Given the description of an element on the screen output the (x, y) to click on. 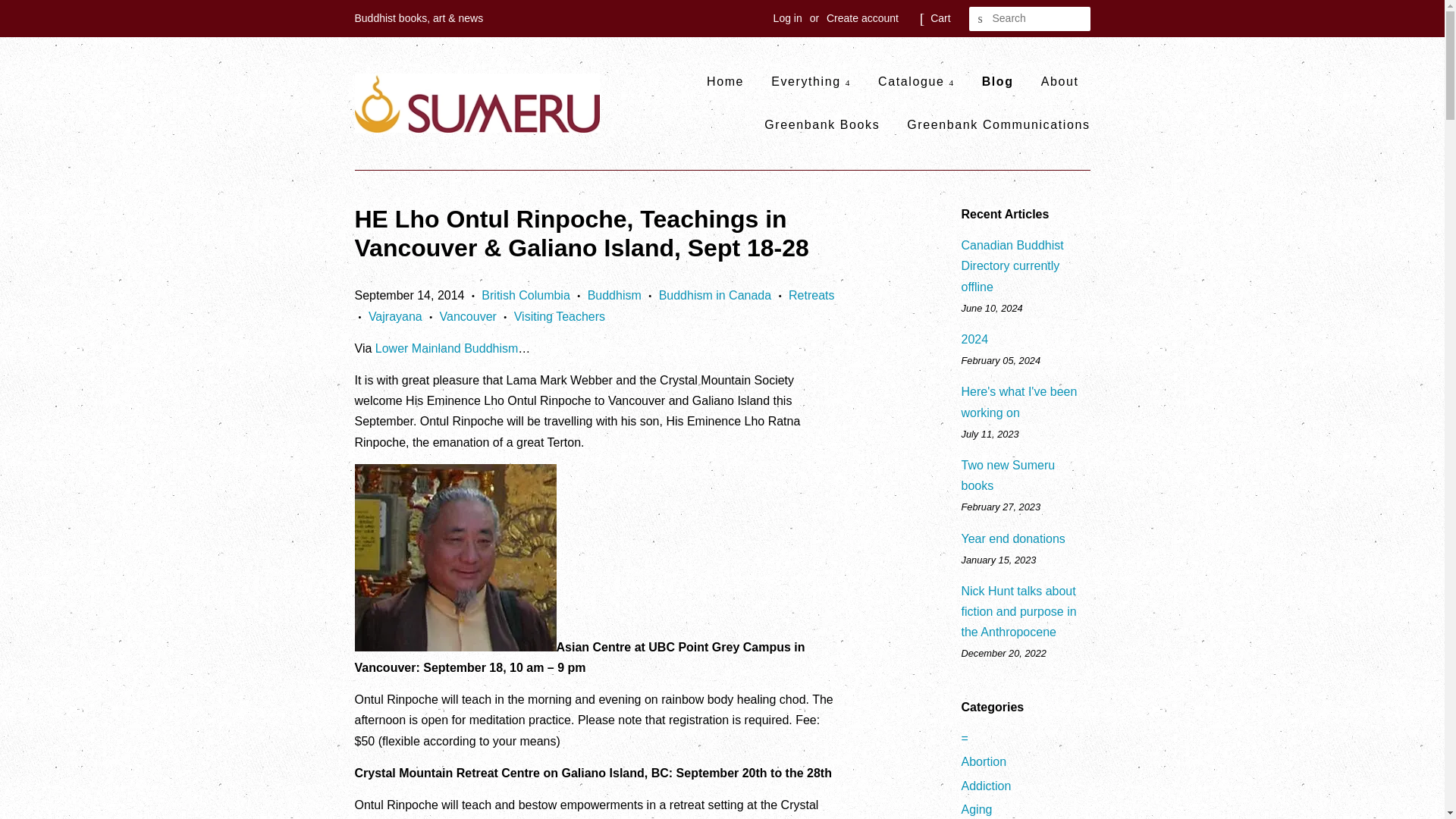
Catalogue (916, 81)
Log in (787, 18)
Search (980, 18)
Show articles tagged Abortion (983, 761)
Show articles tagged Addiction (985, 785)
Create account (862, 18)
Home (730, 81)
Cart (940, 18)
Everything (810, 81)
Show articles tagged Aging (976, 809)
